Given the description of an element on the screen output the (x, y) to click on. 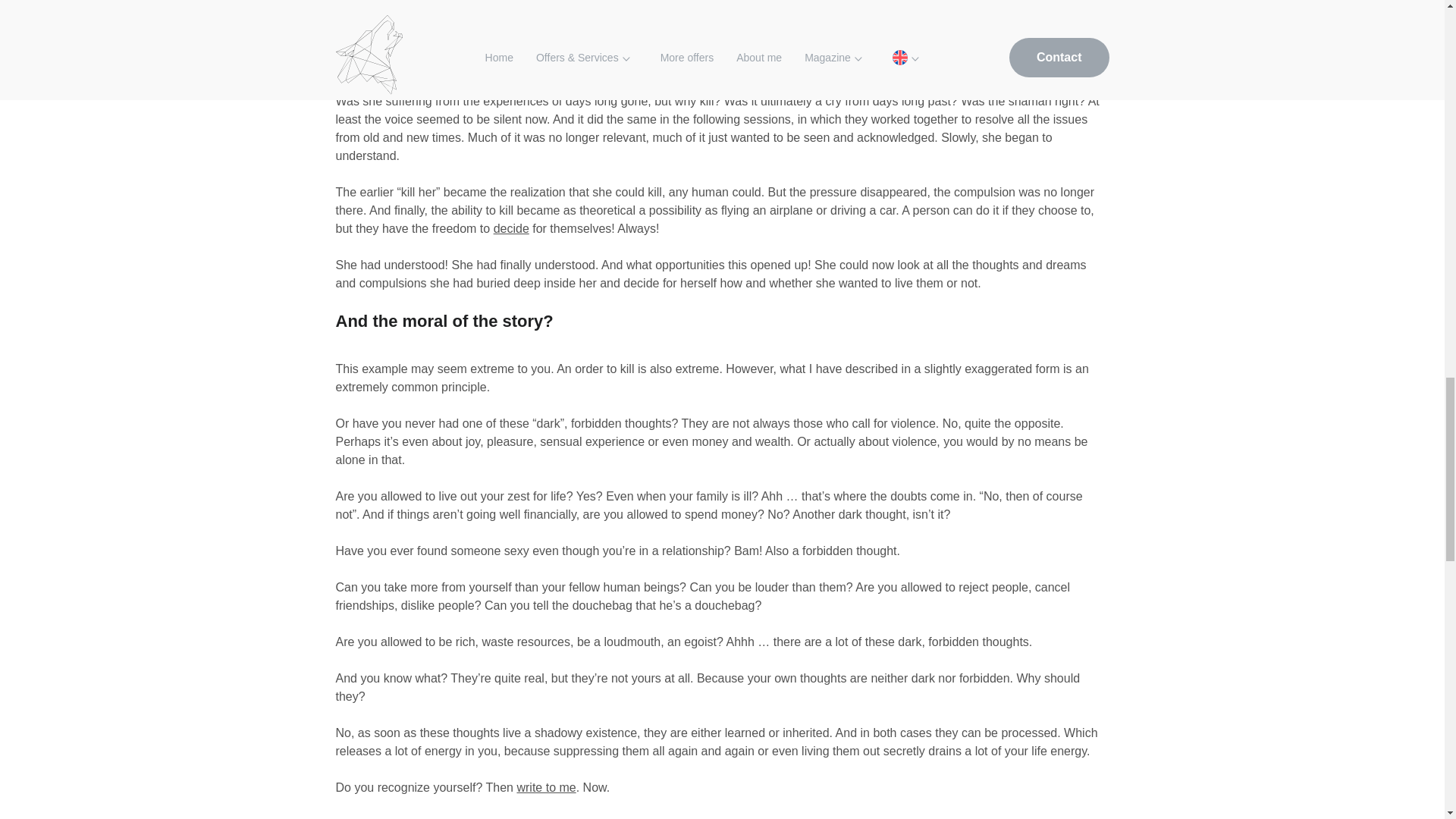
decide (511, 228)
Is that enough Dad? (511, 228)
write to me (545, 787)
